Given the description of an element on the screen output the (x, y) to click on. 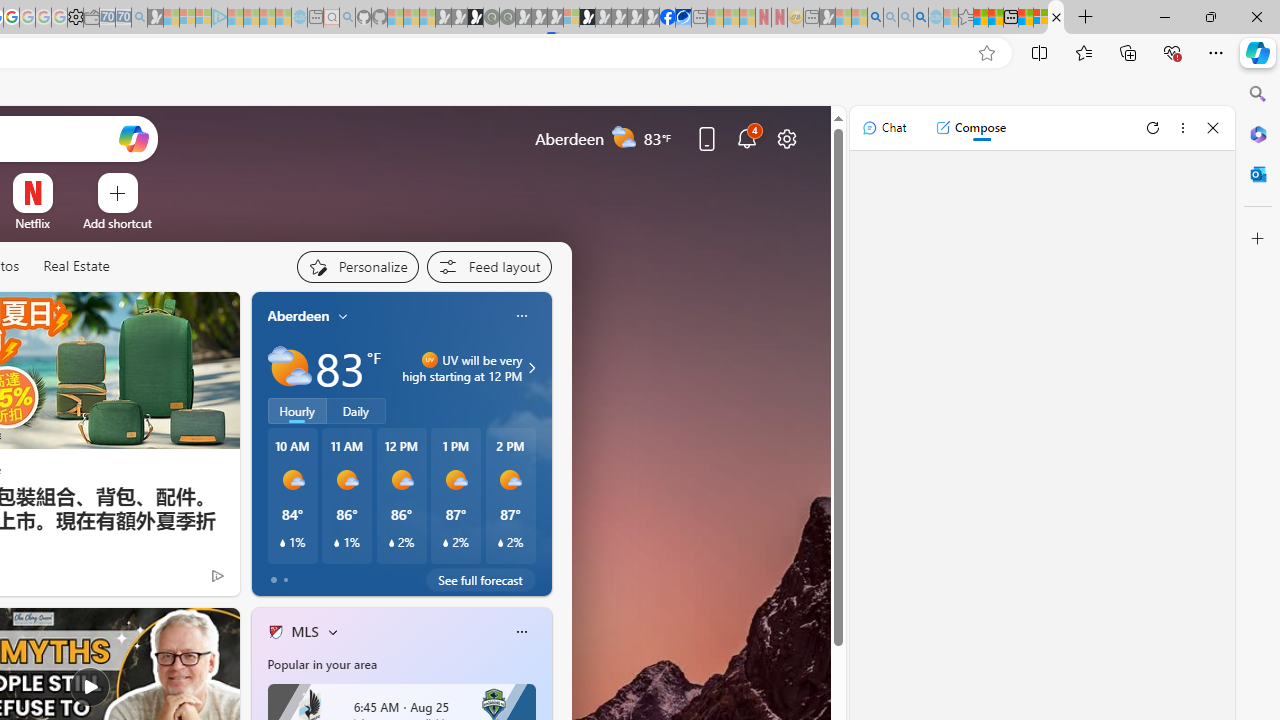
Google Chrome Internet Browser Download - Search Images (920, 17)
Partly sunny (289, 368)
Real Estate (76, 265)
Class: weather-arrow-glyph (531, 367)
Compose (970, 128)
